Given the description of an element on the screen output the (x, y) to click on. 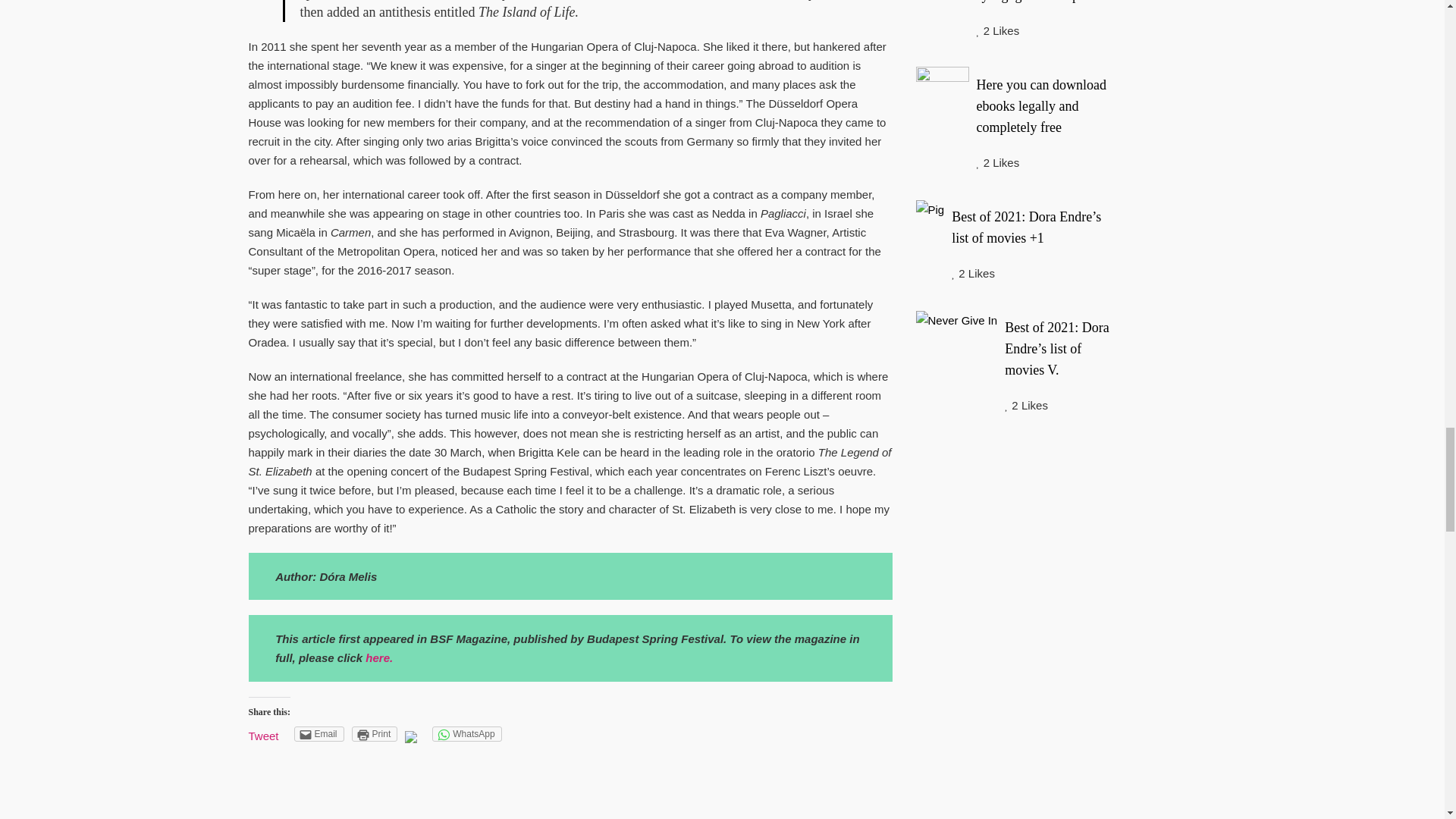
Click to print (374, 734)
Click to share on WhatsApp (466, 734)
Click to email this to a friend (318, 734)
